Given the description of an element on the screen output the (x, y) to click on. 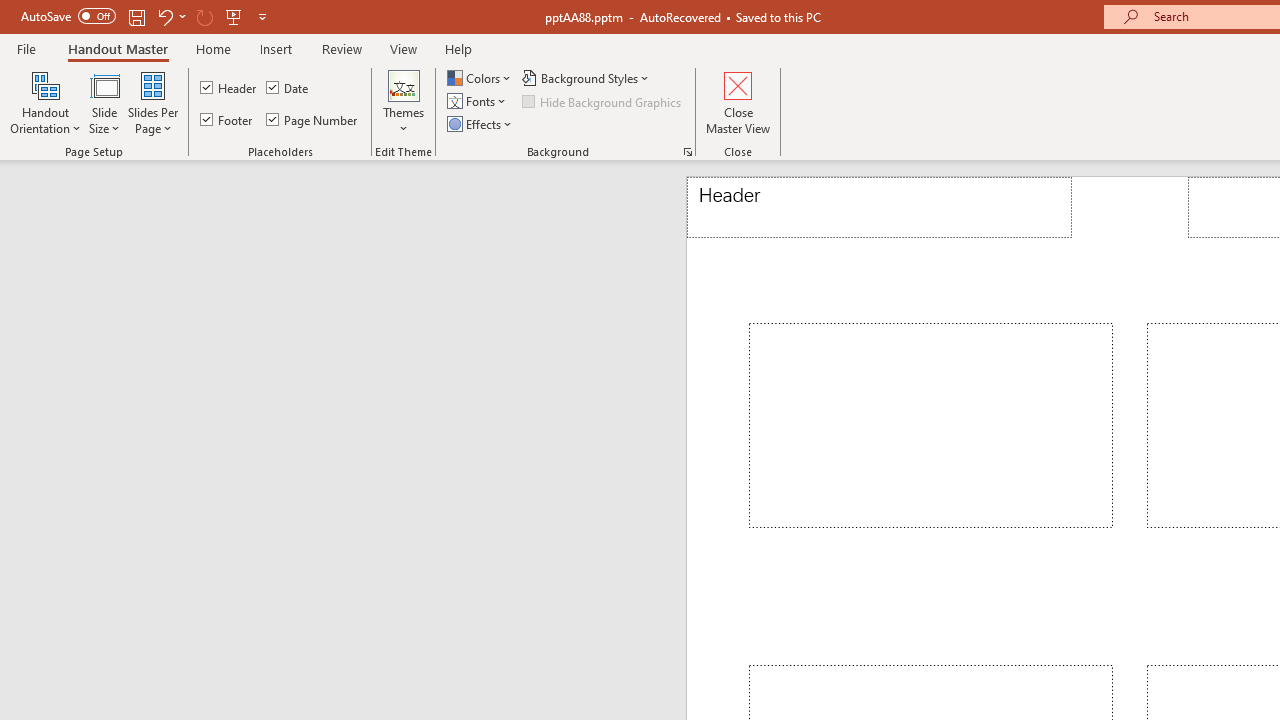
Handout Master (117, 48)
Header (229, 87)
Close Master View (738, 102)
Header (879, 207)
Hide Background Graphics (603, 101)
